Given the description of an element on the screen output the (x, y) to click on. 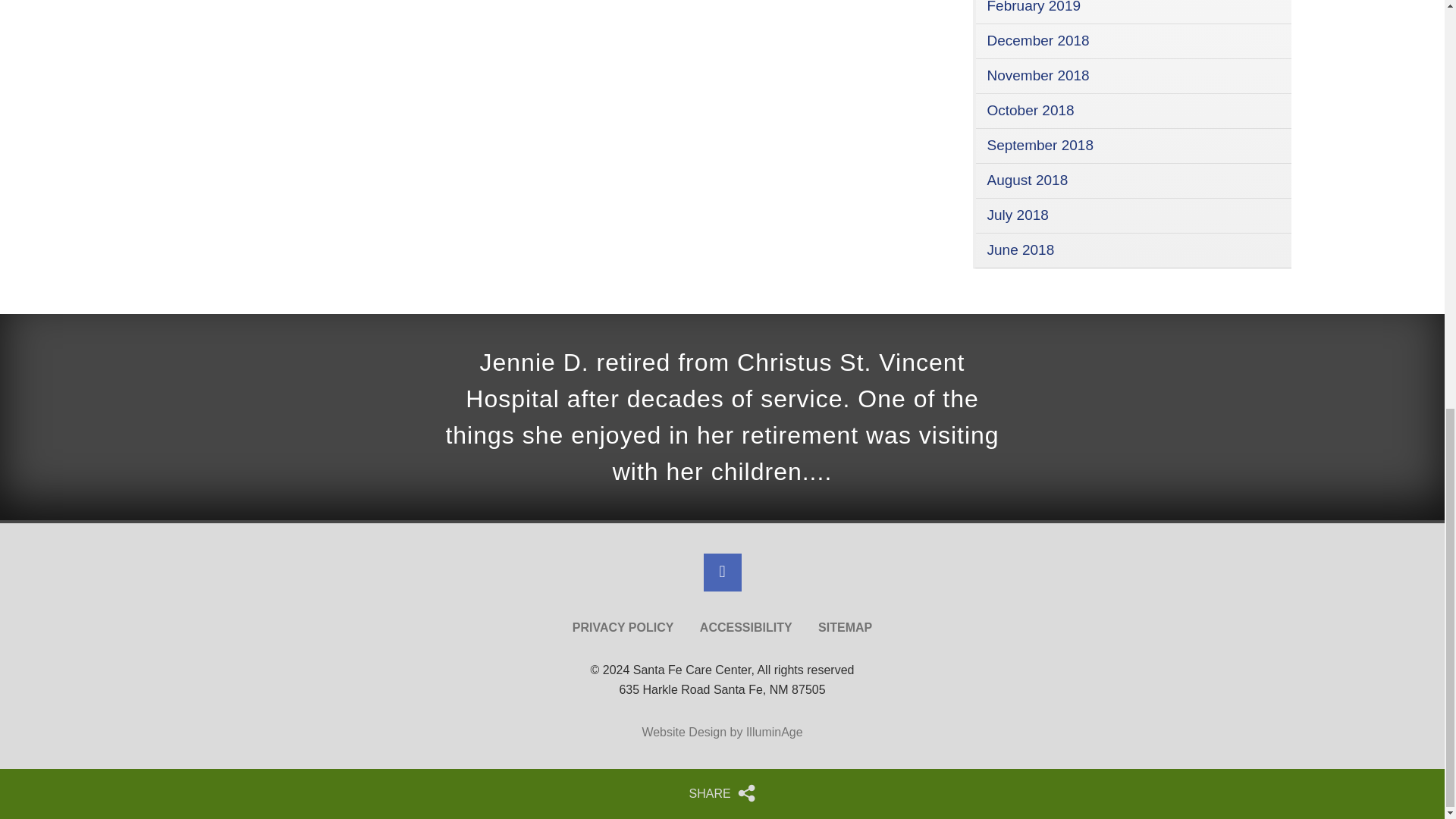
December 2018 (1038, 40)
October 2018 (1030, 109)
February 2019 (1034, 6)
November 2018 (1038, 75)
